Given the description of an element on the screen output the (x, y) to click on. 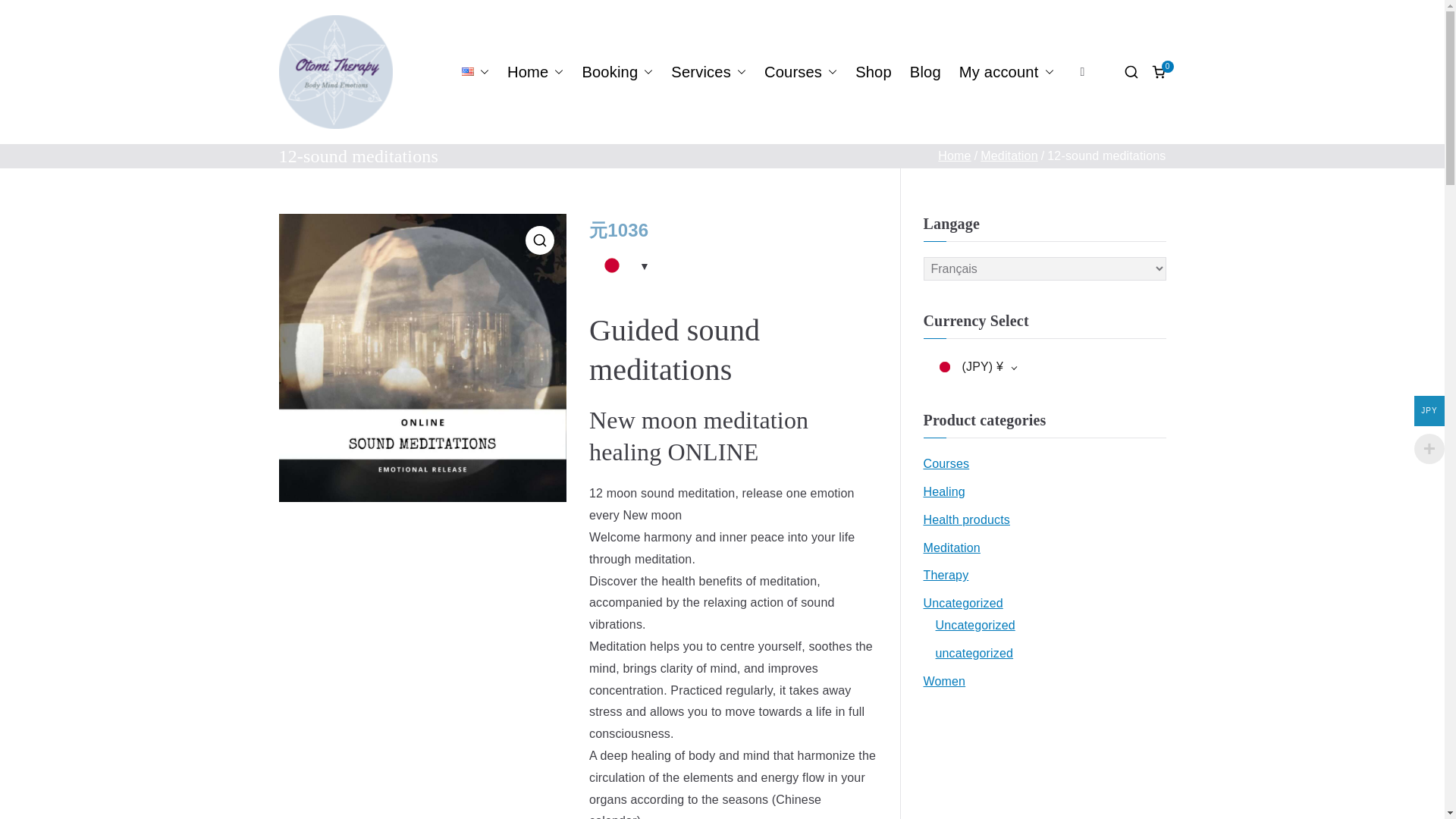
Shop (873, 71)
Services (708, 71)
Search (26, 12)
Natural health shop (873, 71)
My account (1006, 71)
Otomi Therapy (455, 82)
Home (534, 71)
Contact Holistic Therapy (616, 71)
Conscious Health (925, 71)
Blog (925, 71)
Booking (616, 71)
Courses (800, 71)
School for spiritual awakening (800, 71)
0 (1158, 71)
